Given the description of an element on the screen output the (x, y) to click on. 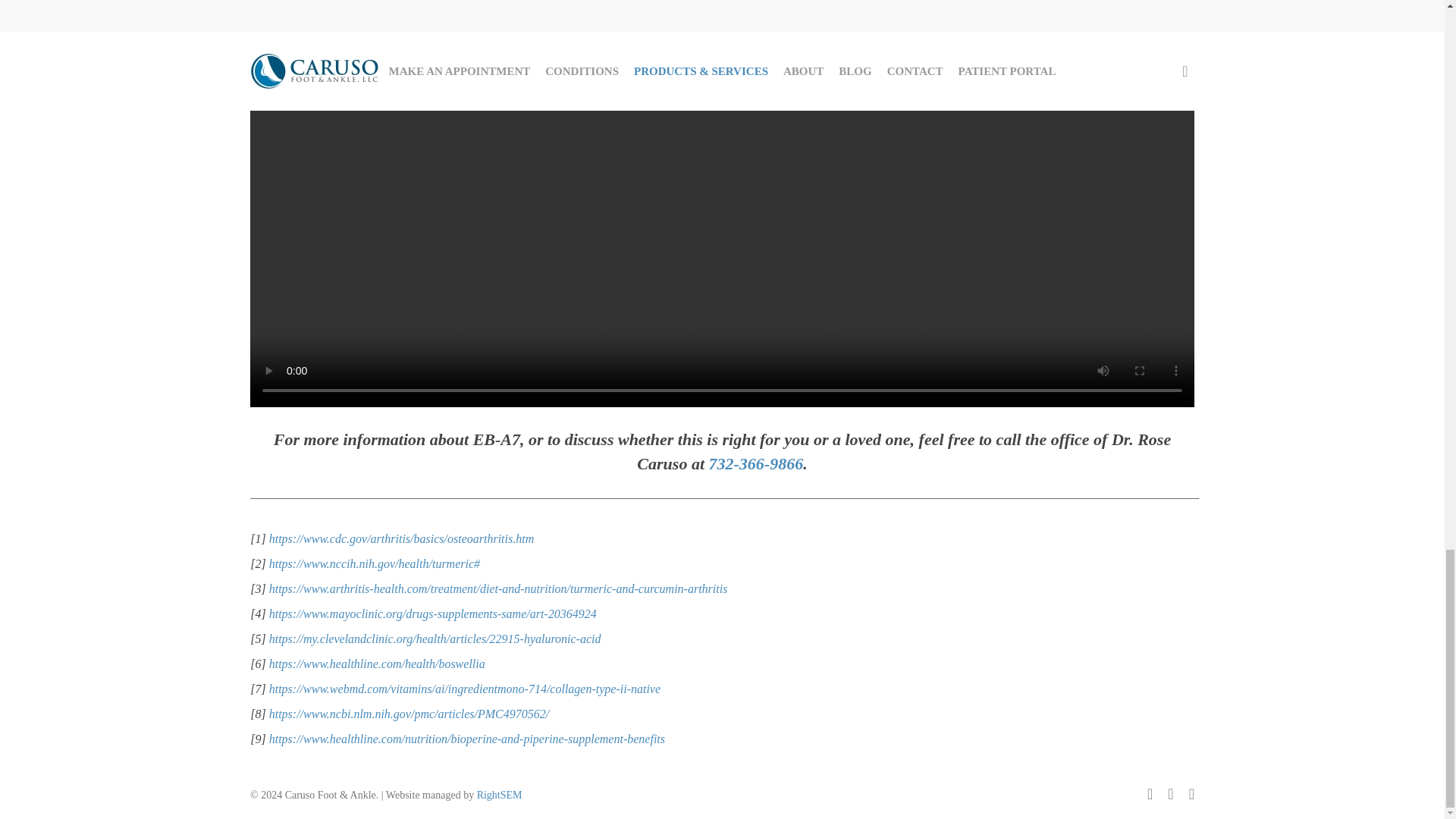
RightSEM (499, 794)
732-366-9866 (755, 463)
